Given the description of an element on the screen output the (x, y) to click on. 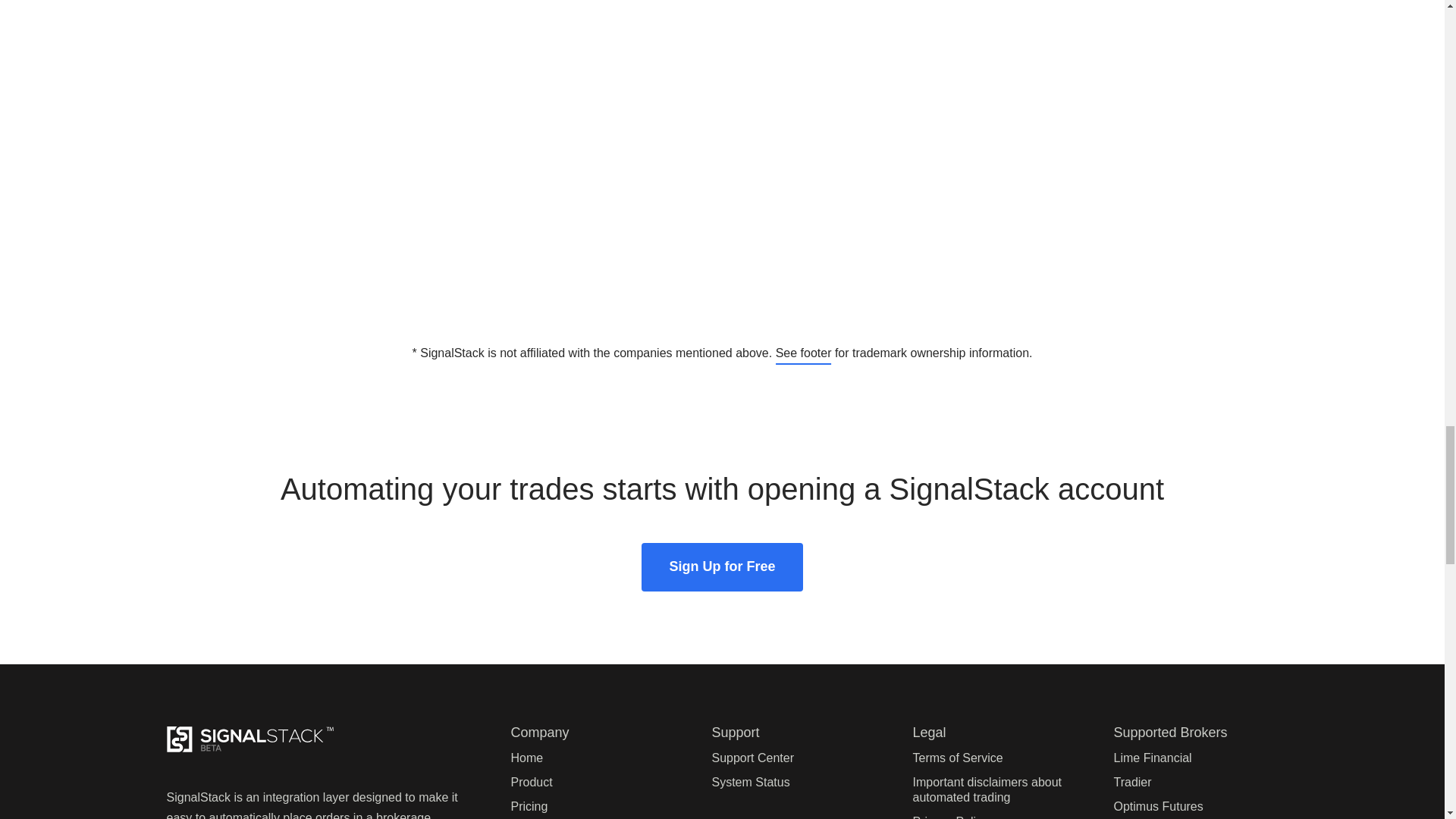
Home (527, 757)
Product (532, 781)
Pricing (529, 806)
Lime Financial (1152, 757)
System Status (750, 781)
Privacy Policy (950, 816)
See footer (803, 353)
Important disclaimers about automated trading (987, 789)
Sign Up for Free (722, 566)
Tradier (1132, 781)
